Given the description of an element on the screen output the (x, y) to click on. 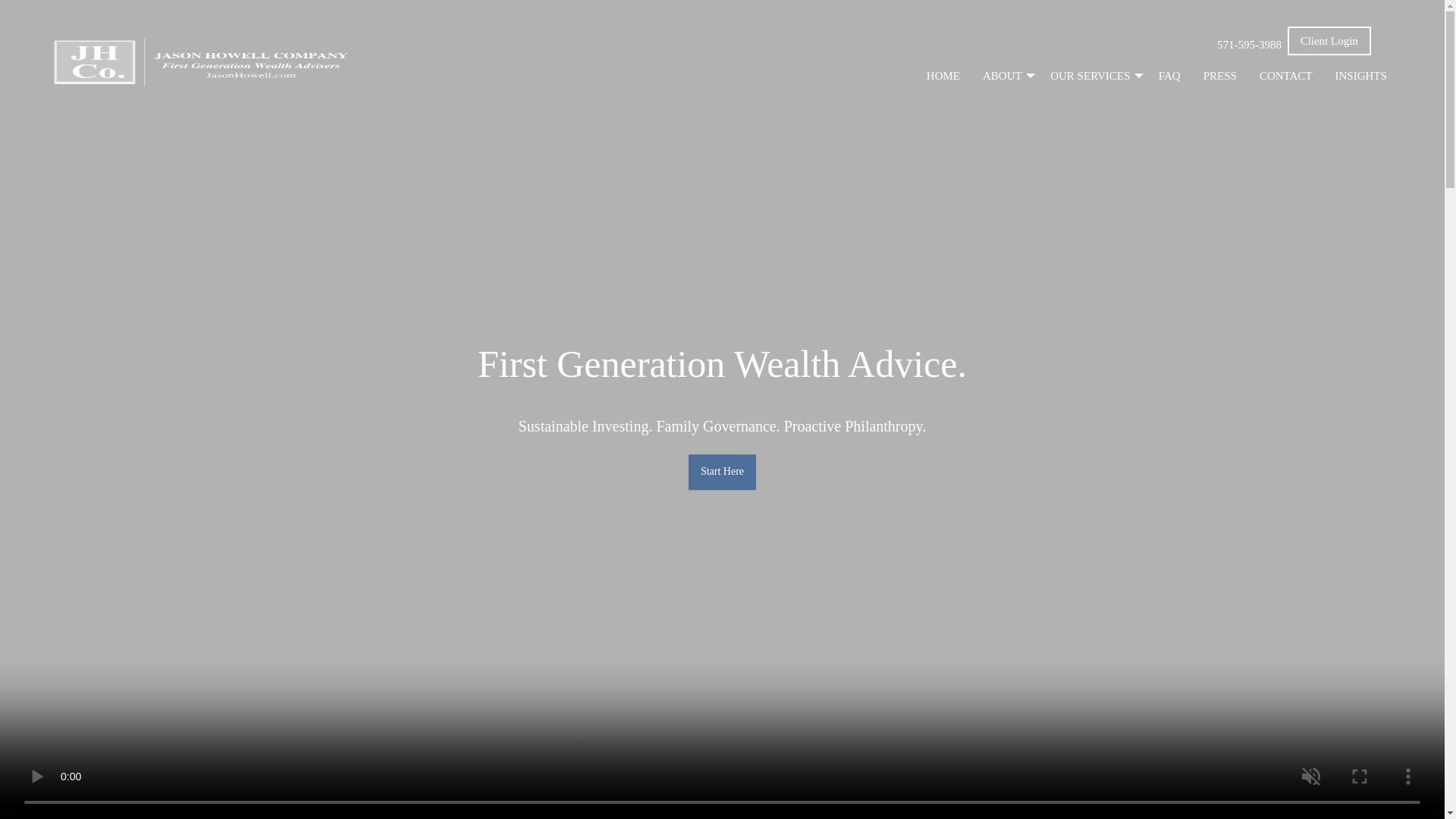
Start Here (721, 471)
FAQ (1169, 75)
571-595-3988 (1249, 44)
OUR SERVICES (1093, 75)
Client Login (1329, 40)
ABOUT (1005, 75)
Press (1219, 75)
PRESS (1219, 75)
HOME (943, 75)
FAQ (1169, 75)
CONTACT (1285, 75)
Phone numbers (1285, 75)
INSIGHTS (1360, 75)
